Given the description of an element on the screen output the (x, y) to click on. 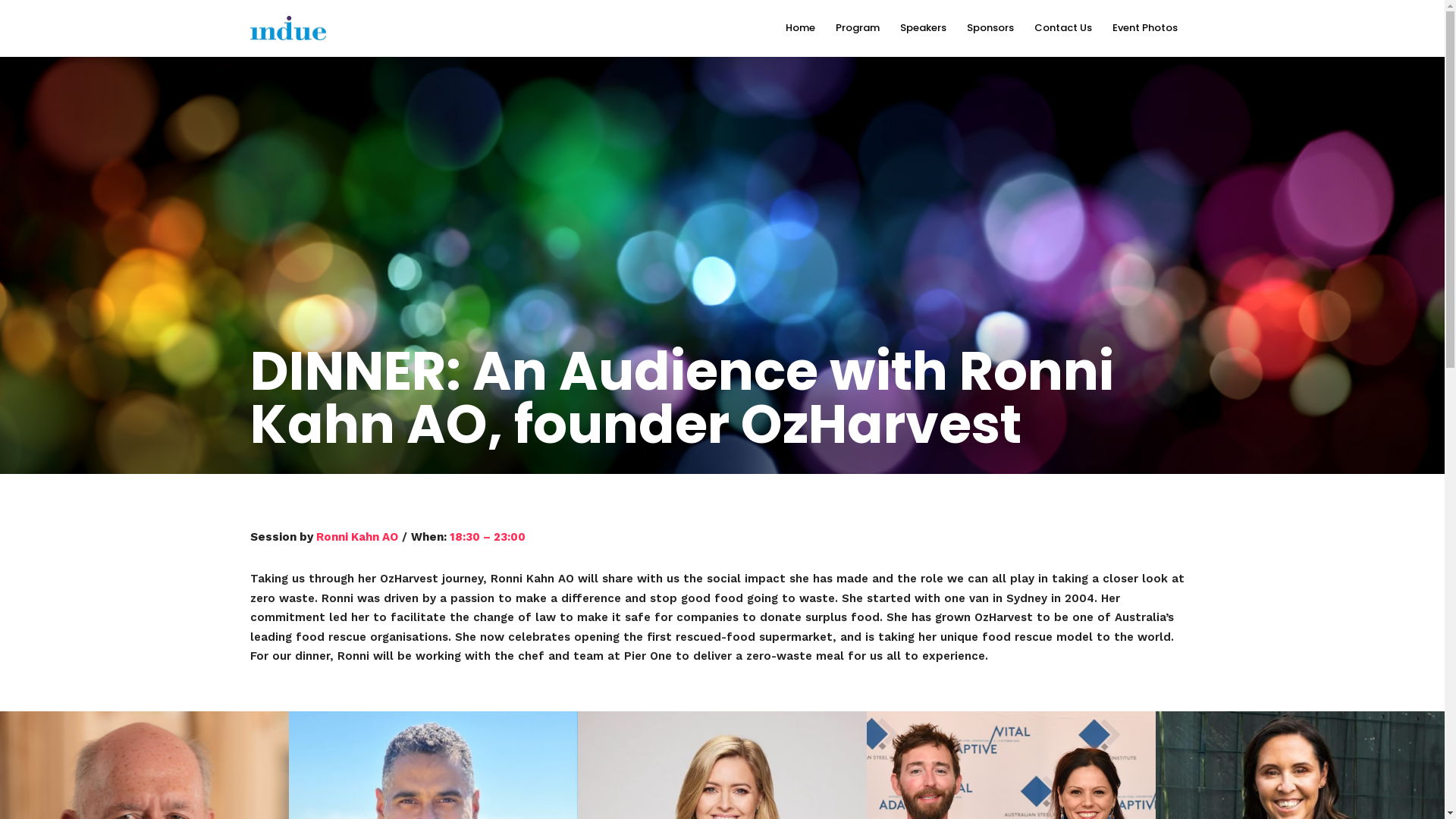
Speakers Element type: text (929, 28)
Event Photos Element type: text (1151, 28)
Program Element type: text (863, 28)
Ronni Kahn AO Element type: text (357, 535)
Contact Us Element type: text (1069, 28)
Sponsors Element type: text (996, 28)
Home Element type: text (806, 28)
